Given the description of an element on the screen output the (x, y) to click on. 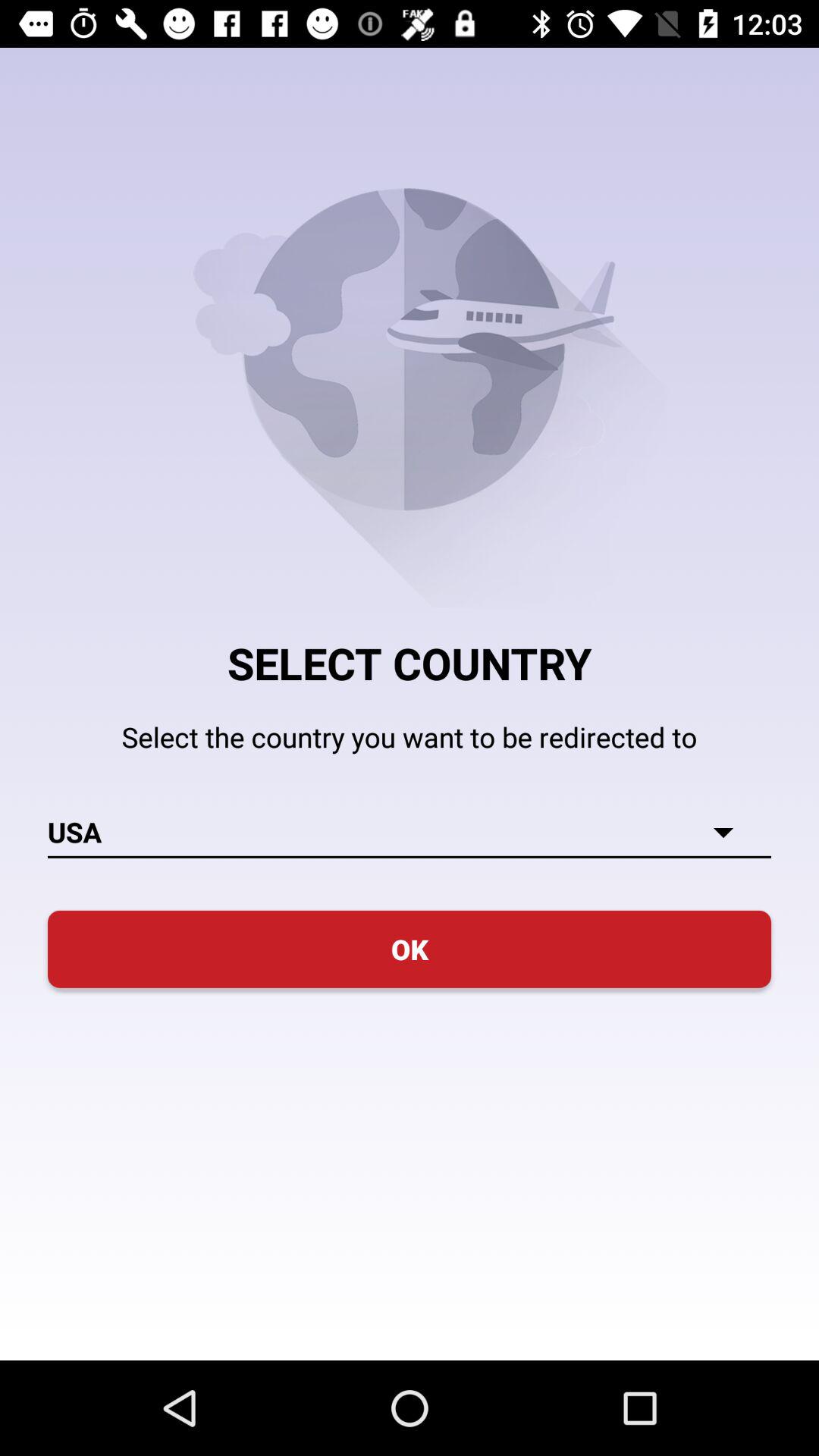
tap ok (409, 948)
